Given the description of an element on the screen output the (x, y) to click on. 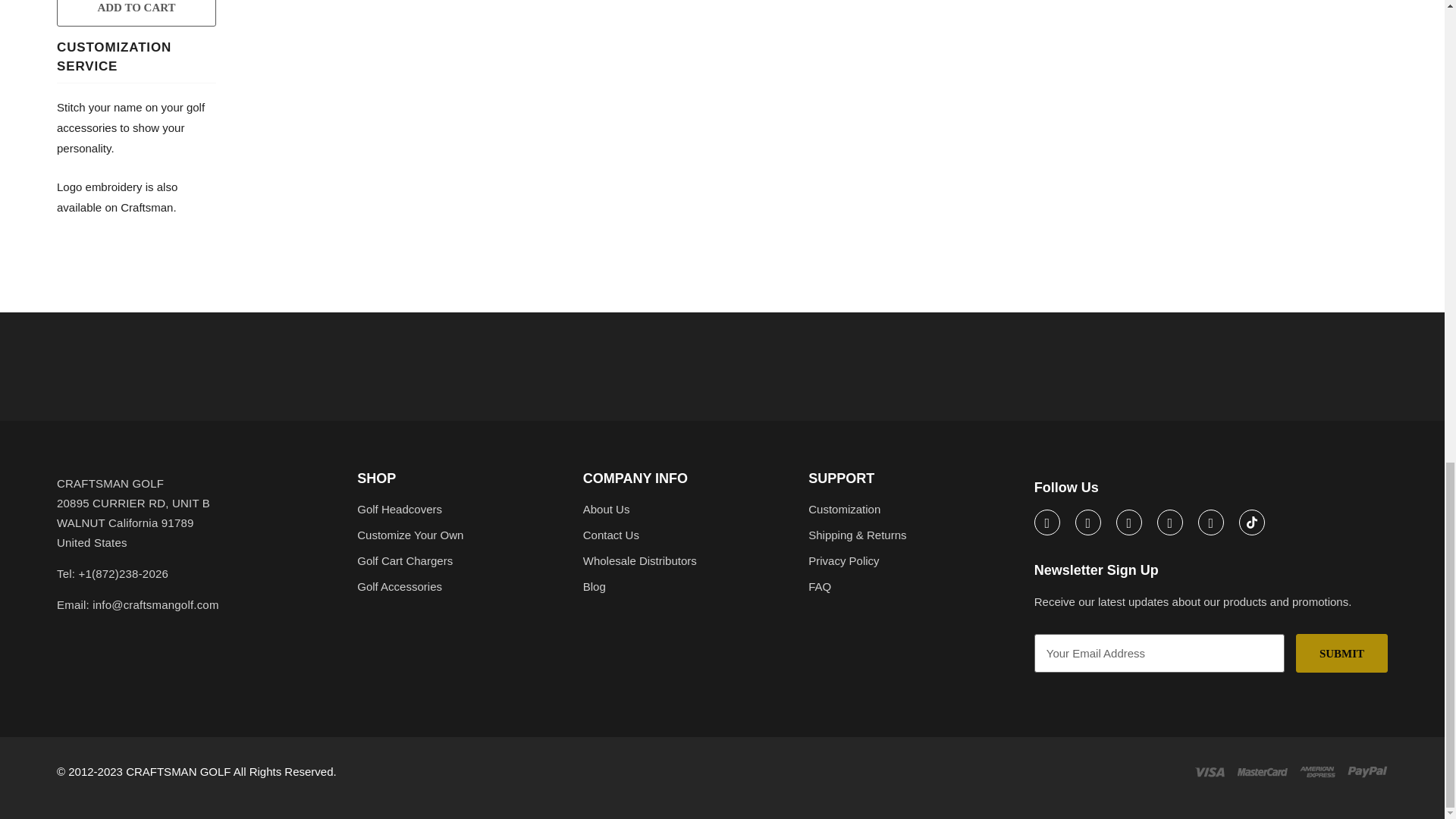
Submit (1341, 652)
